Given the description of an element on the screen output the (x, y) to click on. 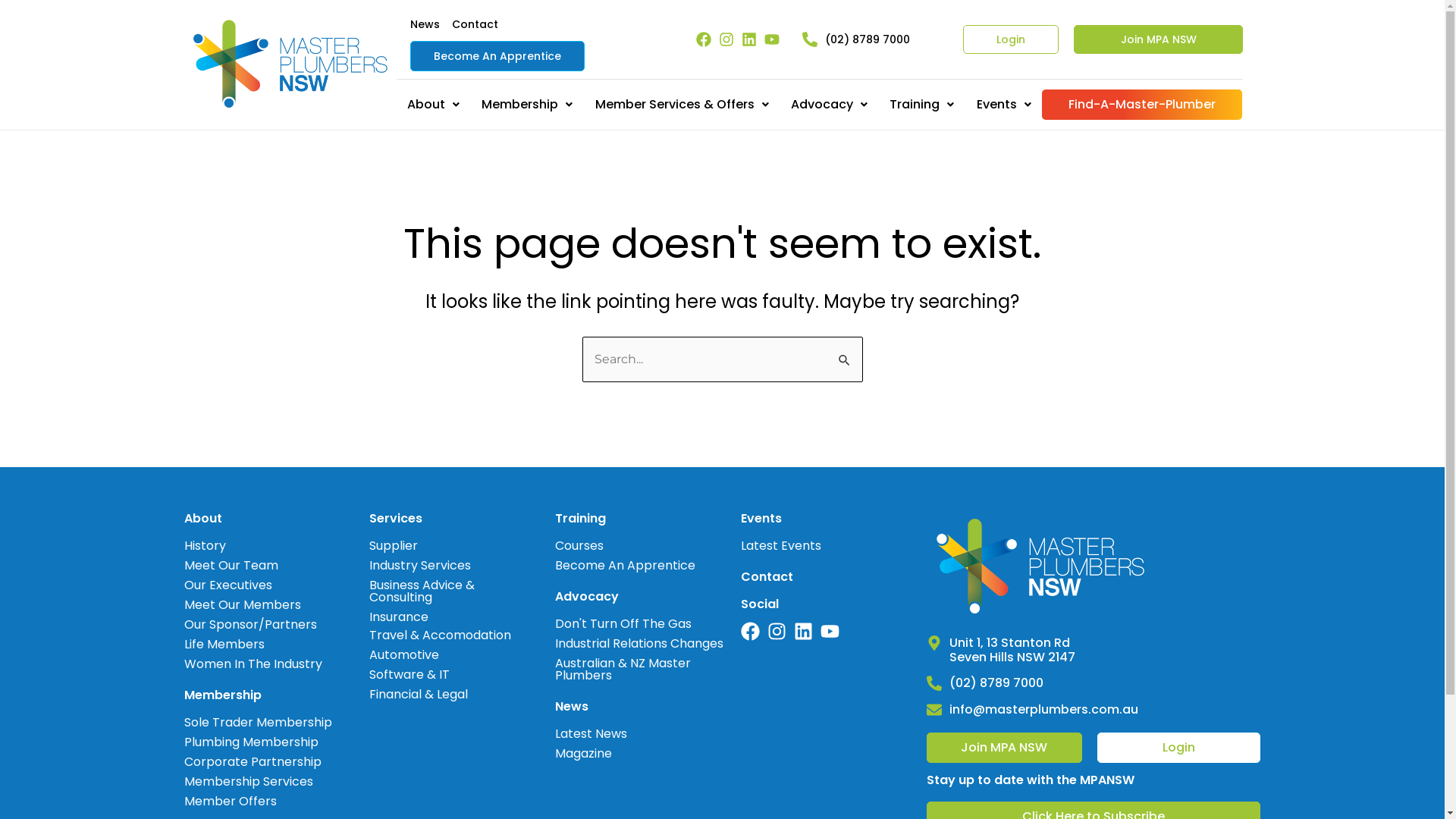
Meet Our Team Element type: text (252, 565)
Corporate Partnership Element type: text (257, 761)
Don't Turn Off The Gas Element type: text (640, 623)
Login Element type: text (1010, 39)
Our Executives Element type: text (252, 585)
Youtube Element type: text (771, 39)
Our Sponsor/Partners Element type: text (252, 624)
Financial & Legal Element type: text (440, 694)
(02) 8789 7000 Element type: text (867, 39)
Advocacy Element type: text (586, 596)
Facebook Element type: text (749, 630)
Login Element type: text (1178, 747)
Automotive Element type: text (440, 655)
Member Services & Offers Element type: text (681, 104)
Travel & Accomodation Element type: text (440, 635)
Industrial Relations Changes Element type: text (640, 643)
Women In The Industry Element type: text (252, 664)
Courses Element type: text (625, 545)
Magazine Element type: text (591, 753)
Youtube Element type: text (829, 630)
Member Offers Element type: text (257, 801)
News Element type: text (571, 706)
Linkedin Element type: text (802, 630)
Contact Element type: text (766, 576)
Life Members Element type: text (252, 644)
Become An Apprentice Element type: text (496, 55)
Insurance Element type: text (454, 617)
Linkedin Element type: text (748, 39)
Membership Element type: text (526, 104)
Contact Element type: text (474, 23)
Advocacy Element type: text (828, 104)
Events Element type: text (760, 518)
Instagram Element type: text (776, 630)
Become An Apprentice Element type: text (625, 565)
Meet Our Members Element type: text (252, 605)
Training Element type: text (580, 518)
Industry Services Element type: text (454, 565)
Instagram Element type: text (726, 39)
Events Element type: text (1003, 104)
Training Element type: text (921, 104)
Sole Trader Membership Element type: text (257, 722)
(02) 8789 7000 Element type: text (996, 682)
Australian & NZ Master Plumbers Element type: text (640, 669)
Latest News Element type: text (591, 733)
Business Advice & Consulting Element type: text (454, 591)
Services Element type: text (395, 518)
Find-A-Master-Plumber Element type: text (1141, 104)
About Element type: text (432, 104)
News Element type: text (424, 23)
Join MPA NSW Element type: text (1004, 747)
Latest Events Element type: text (780, 545)
Facebook Element type: text (703, 39)
Plumbing Membership Element type: text (257, 742)
Join MPA NSW Element type: text (1157, 39)
History Element type: text (252, 545)
Software & IT Element type: text (440, 674)
Membership Element type: text (221, 694)
info@masterplumbers.com.au Element type: text (1043, 709)
Membership Services Element type: text (257, 781)
Search Element type: text (845, 352)
Supplier Element type: text (454, 545)
About Element type: text (202, 518)
